Given the description of an element on the screen output the (x, y) to click on. 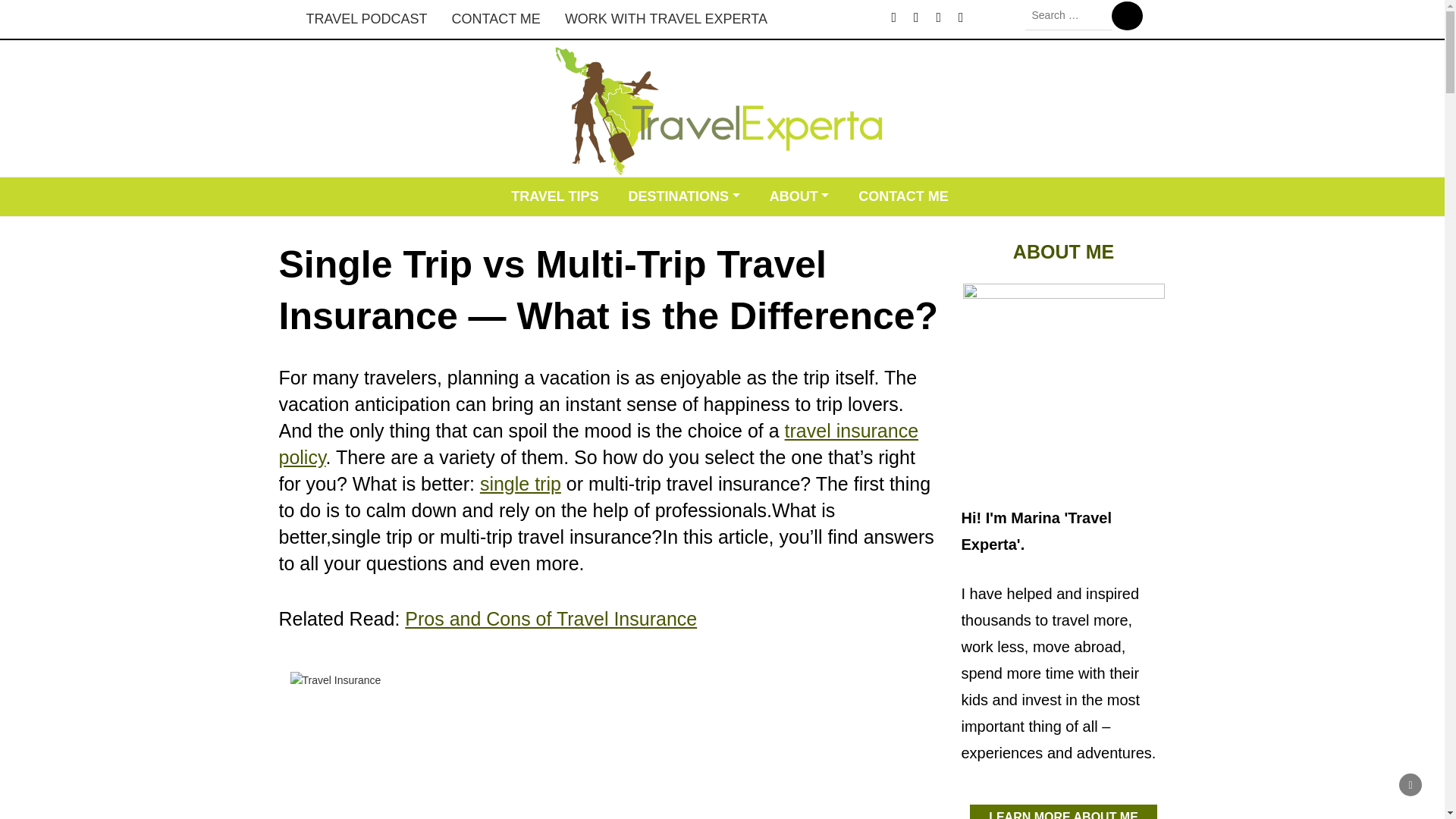
Search for: (1068, 15)
Search (1126, 15)
TRAVEL PODCAST (366, 19)
Search (1126, 15)
CONTACT ME (902, 196)
ABOUT (799, 196)
WORK WITH TRAVEL EXPERTA (665, 19)
DESTINATIONS (683, 196)
Search (1126, 15)
CONTACT ME (496, 19)
